Given the description of an element on the screen output the (x, y) to click on. 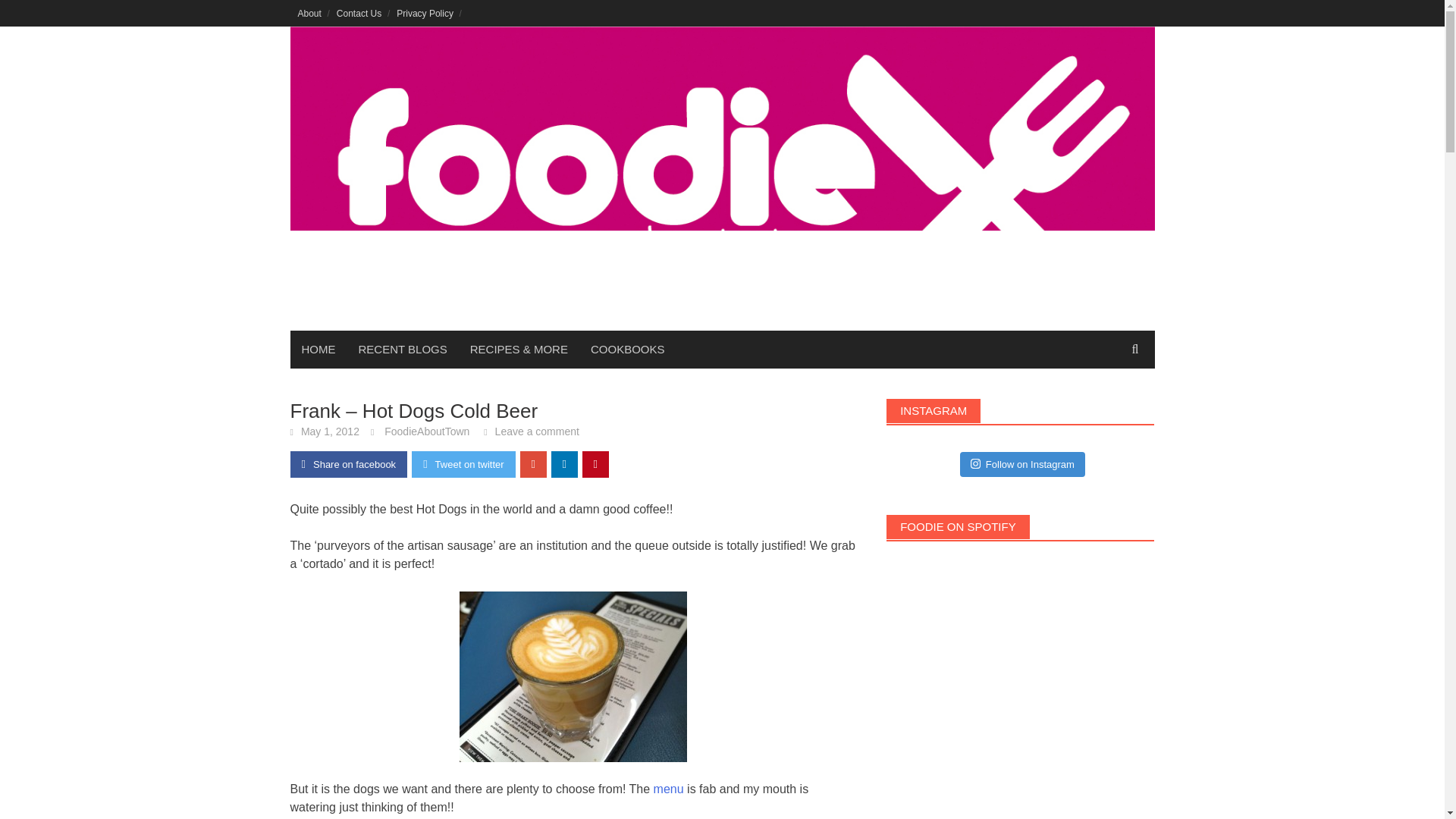
May 1, 2012 (330, 431)
HOME (317, 349)
Share on facebook (348, 464)
Privacy Policy (424, 13)
Coffee (573, 676)
COOKBOOKS (628, 349)
RECENT BLOGS (402, 349)
menu (668, 788)
Leave a comment (537, 431)
FoodieAboutTown (426, 431)
Tweet on twitter (463, 464)
Contact Us (358, 13)
About (309, 13)
